Given the description of an element on the screen output the (x, y) to click on. 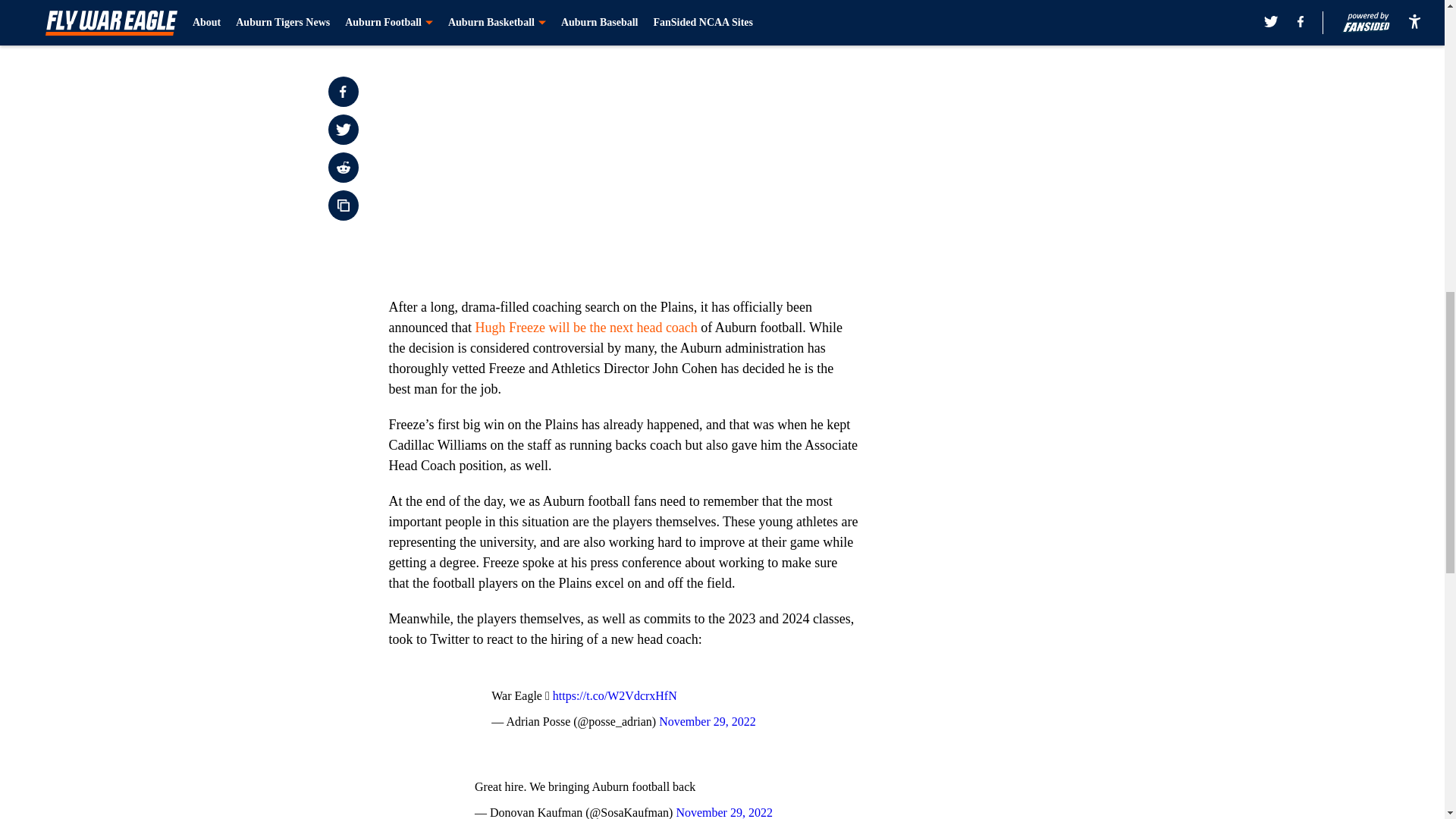
November 29, 2022 (707, 721)
November 29, 2022 (724, 812)
Hugh Freeze will be the next head coach (585, 327)
